Given the description of an element on the screen output the (x, y) to click on. 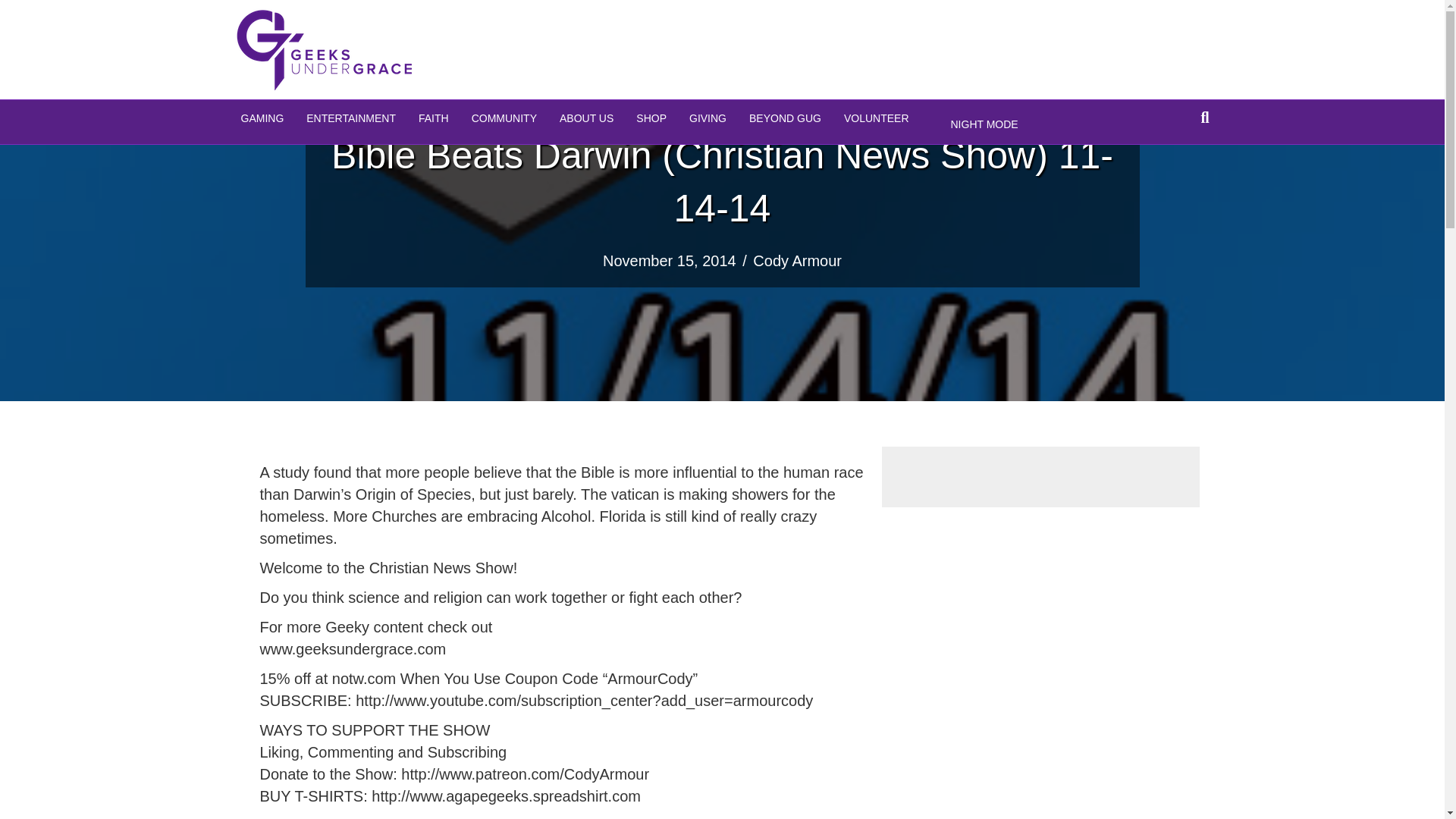
NIGHT MODE (984, 125)
GIVING (708, 118)
FAITH (433, 118)
VOLUNTEER (876, 118)
ENTERTAINMENT (351, 118)
COMMUNITY (504, 118)
SHOP (651, 118)
Cody Armour (796, 260)
GAMING (261, 118)
BEYOND GUG (785, 118)
ABOUT US (586, 118)
